Given the description of an element on the screen output the (x, y) to click on. 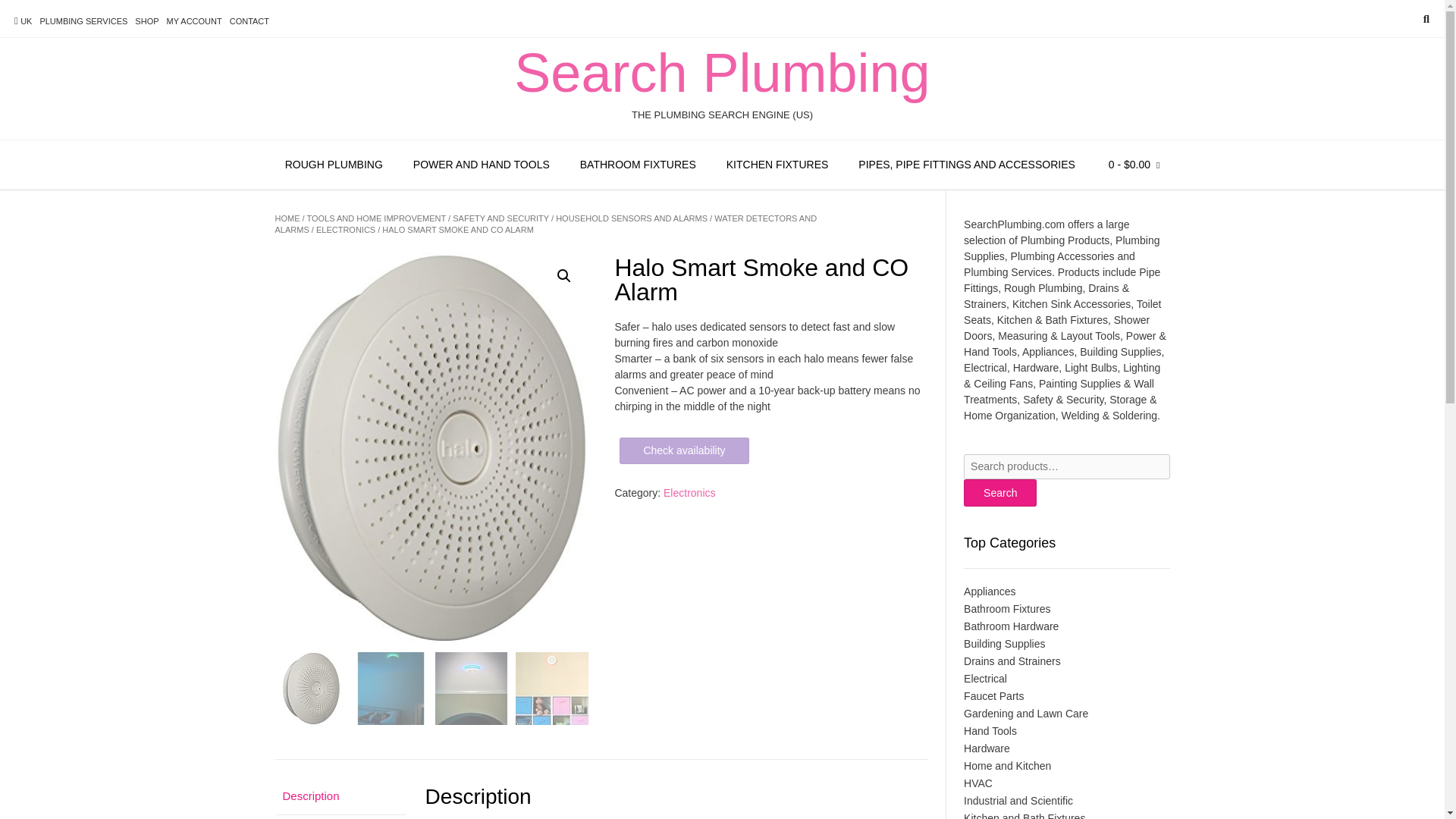
KITCHEN FIXTURES (777, 165)
BATHROOM FIXTURES (637, 165)
Search (999, 492)
CONTACT (249, 21)
SAFETY AND SECURITY (500, 217)
SHOP (146, 21)
HOUSEHOLD SENSORS AND ALARMS (631, 217)
TOOLS AND HOME IMPROVEMENT (375, 217)
ELECTRONICS (345, 229)
MY ACCOUNT (194, 21)
